Given the description of an element on the screen output the (x, y) to click on. 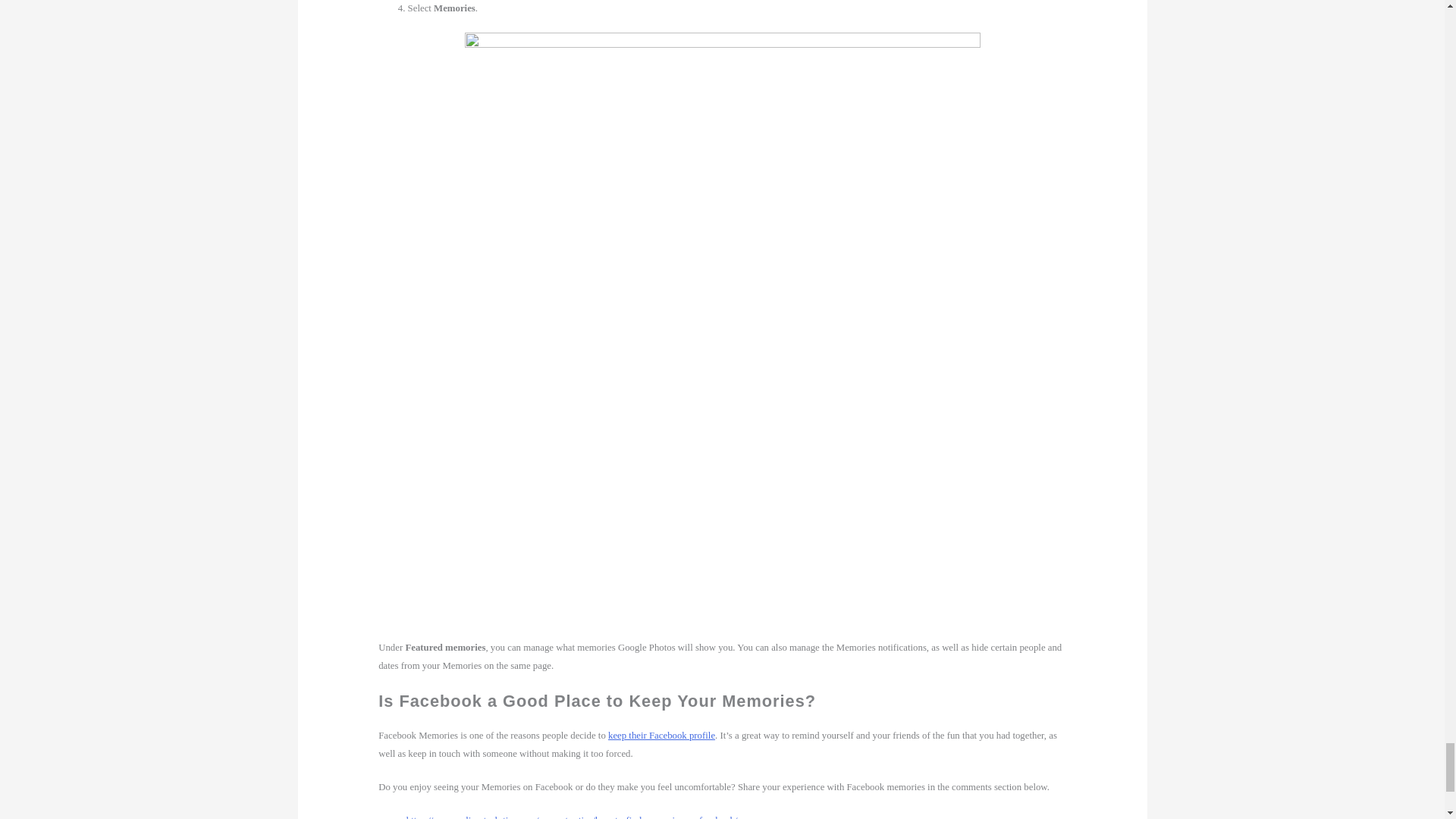
keep their Facebook profile (661, 735)
